Given the description of an element on the screen output the (x, y) to click on. 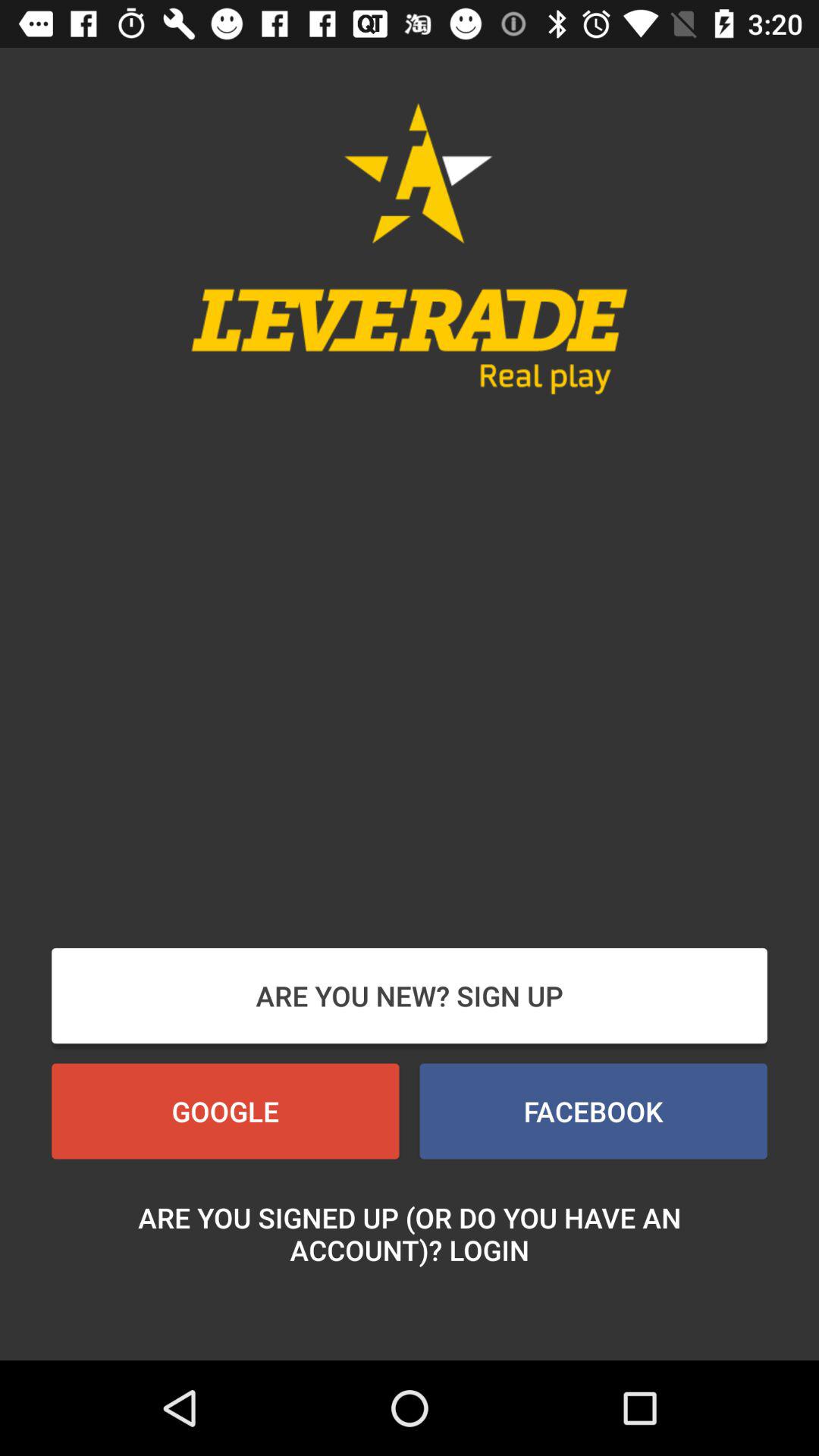
scroll until facebook (593, 1111)
